Given the description of an element on the screen output the (x, y) to click on. 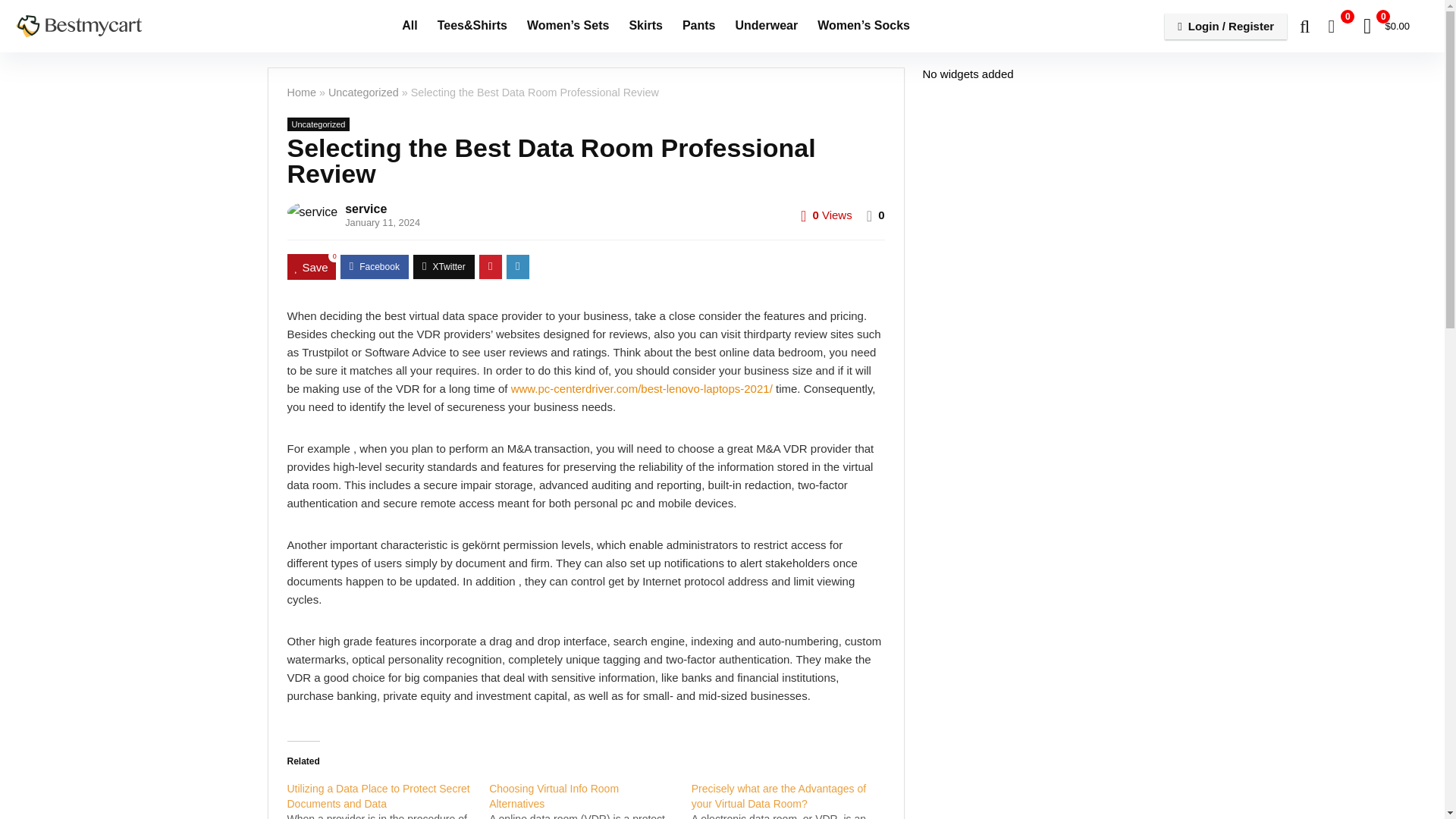
Skirts (644, 26)
Utilizing a Data Place to Protect Secret Documents and Data (387, 800)
Choosing Virtual Info Room Alternatives (553, 795)
Utilizing a Data Place to Protect Secret Documents and Data (377, 795)
Precisely what are the Advantages of your Virtual Data Room? (792, 800)
Precisely what are the Advantages of your Virtual Data Room? (778, 795)
Choosing Virtual Info Room Alternatives (553, 795)
Uncategorized (317, 124)
service (366, 208)
Home (300, 92)
Utilizing a Data Place to Protect Secret Documents and Data (377, 795)
Choosing Virtual Info Room Alternatives (590, 800)
Precisely what are the Advantages of your Virtual Data Room? (778, 795)
Underwear (766, 26)
Pants (698, 26)
